Given the description of an element on the screen output the (x, y) to click on. 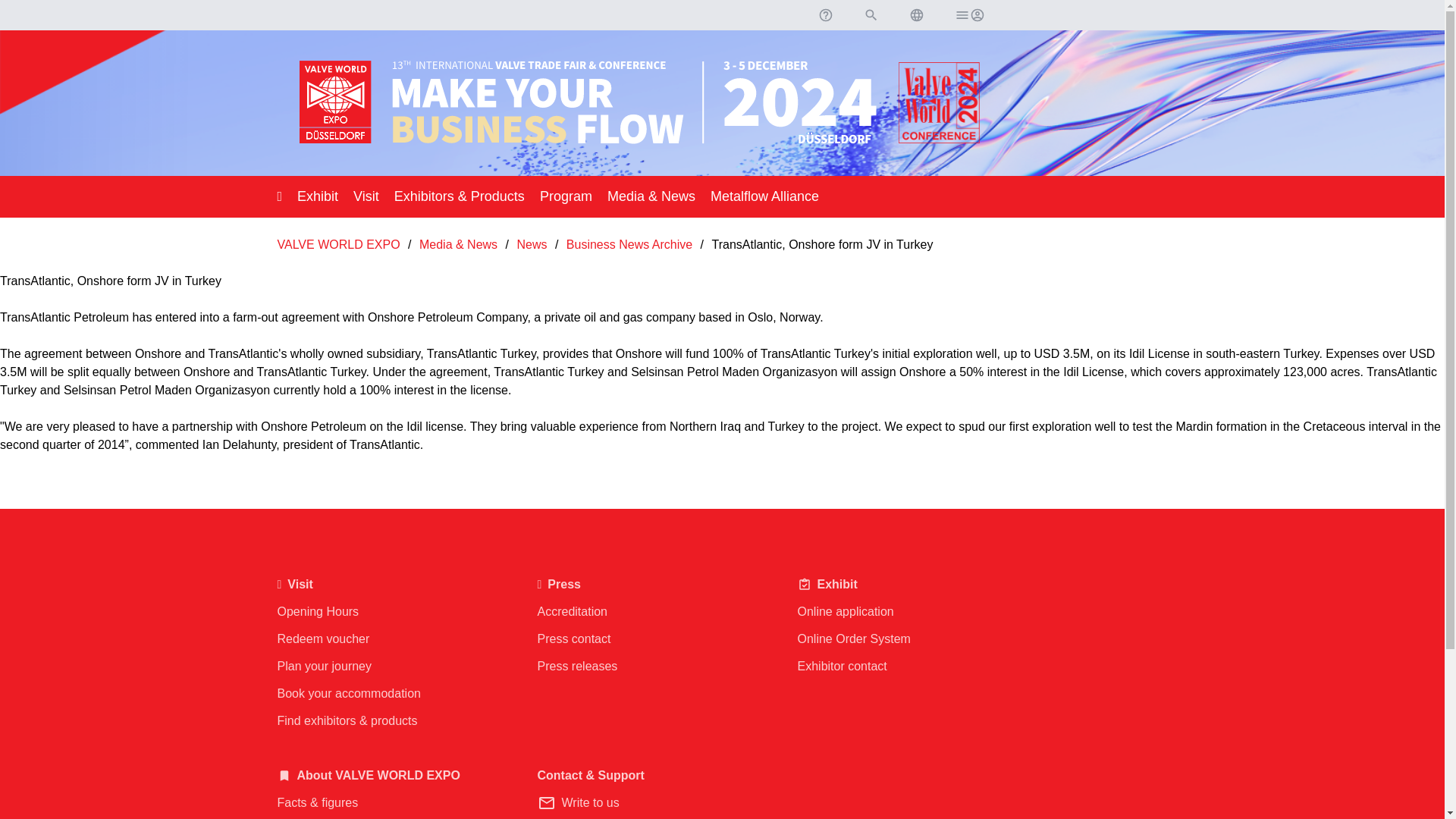
Support (824, 14)
Search (870, 14)
English (915, 14)
Login (968, 14)
